Given the description of an element on the screen output the (x, y) to click on. 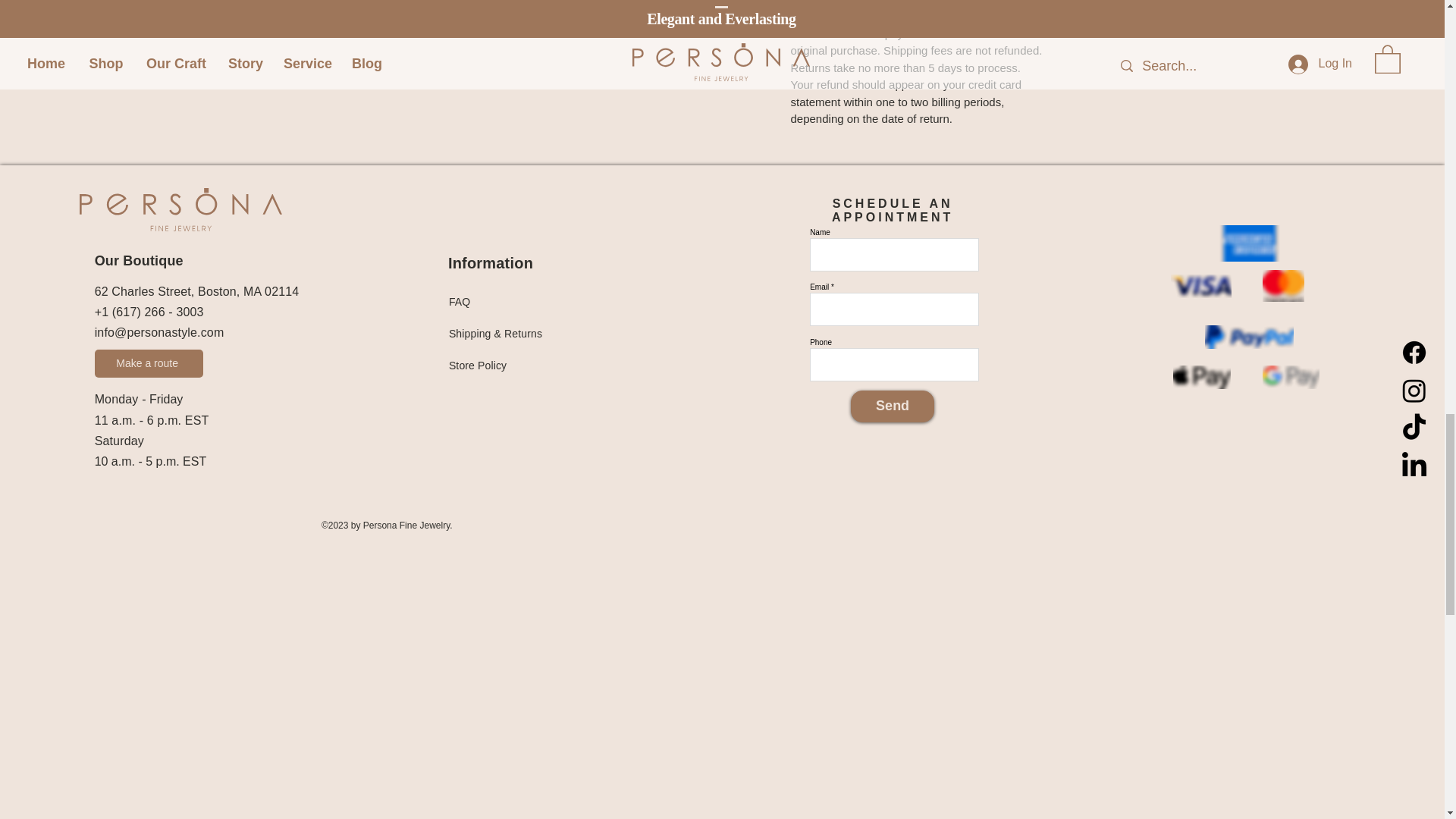
Send (892, 406)
Our Boutique (138, 260)
Store Policy (477, 365)
62 Charles Street, Boston, MA 02114 (196, 291)
FAQ (459, 301)
Make a route (148, 363)
